Given the description of an element on the screen output the (x, y) to click on. 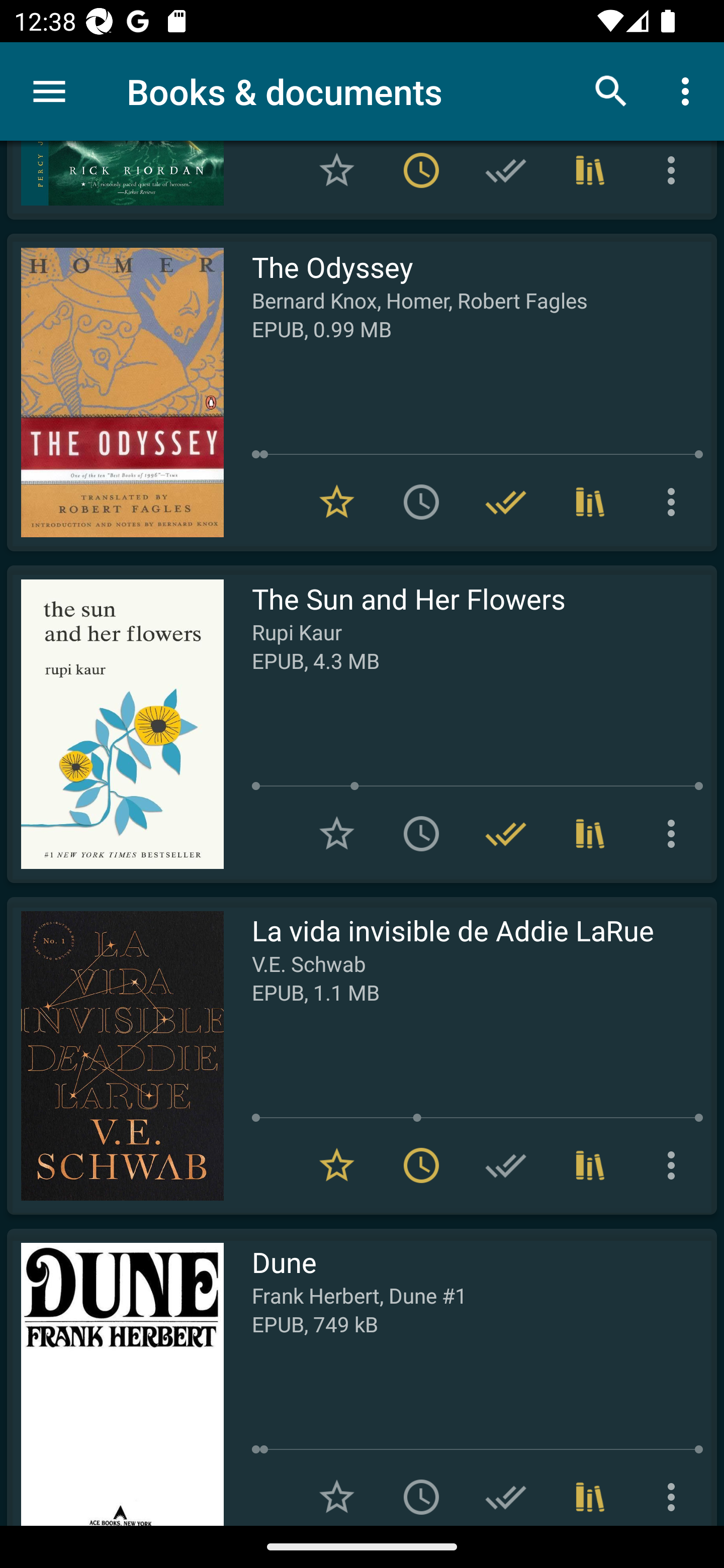
Menu (49, 91)
Search books & documents (611, 90)
More options (688, 90)
Add to Favorites (336, 177)
Remove from To read (421, 177)
Add to Have read (505, 177)
Collections (1) (590, 177)
More options (674, 177)
Read The Odyssey (115, 392)
Remove from Favorites (336, 501)
Add to To read (421, 501)
Remove from Have read (505, 501)
Collections (2) (590, 501)
More options (674, 501)
Read The Sun and Her Flowers (115, 724)
Add to Favorites (336, 833)
Add to To read (421, 833)
Remove from Have read (505, 833)
